Given the description of an element on the screen output the (x, y) to click on. 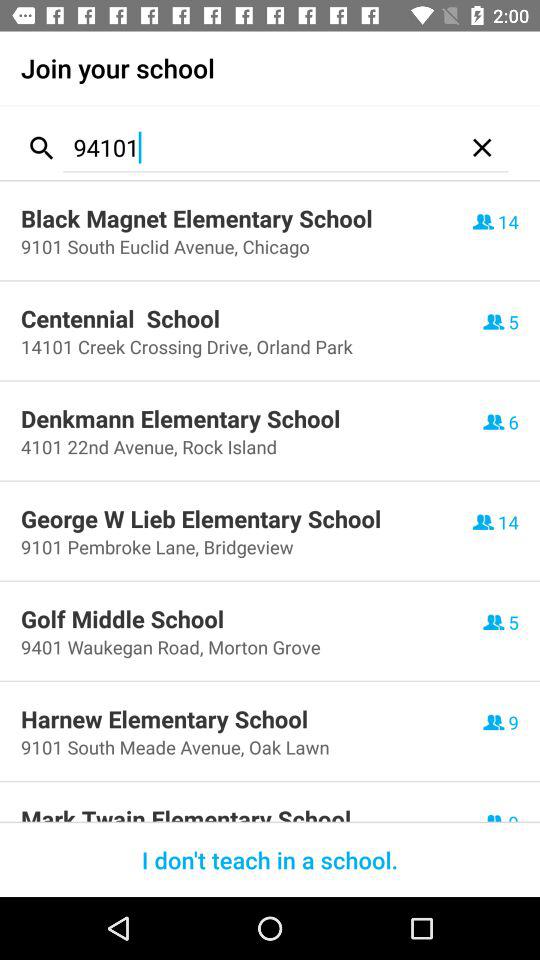
swipe to the i don t (270, 859)
